Given the description of an element on the screen output the (x, y) to click on. 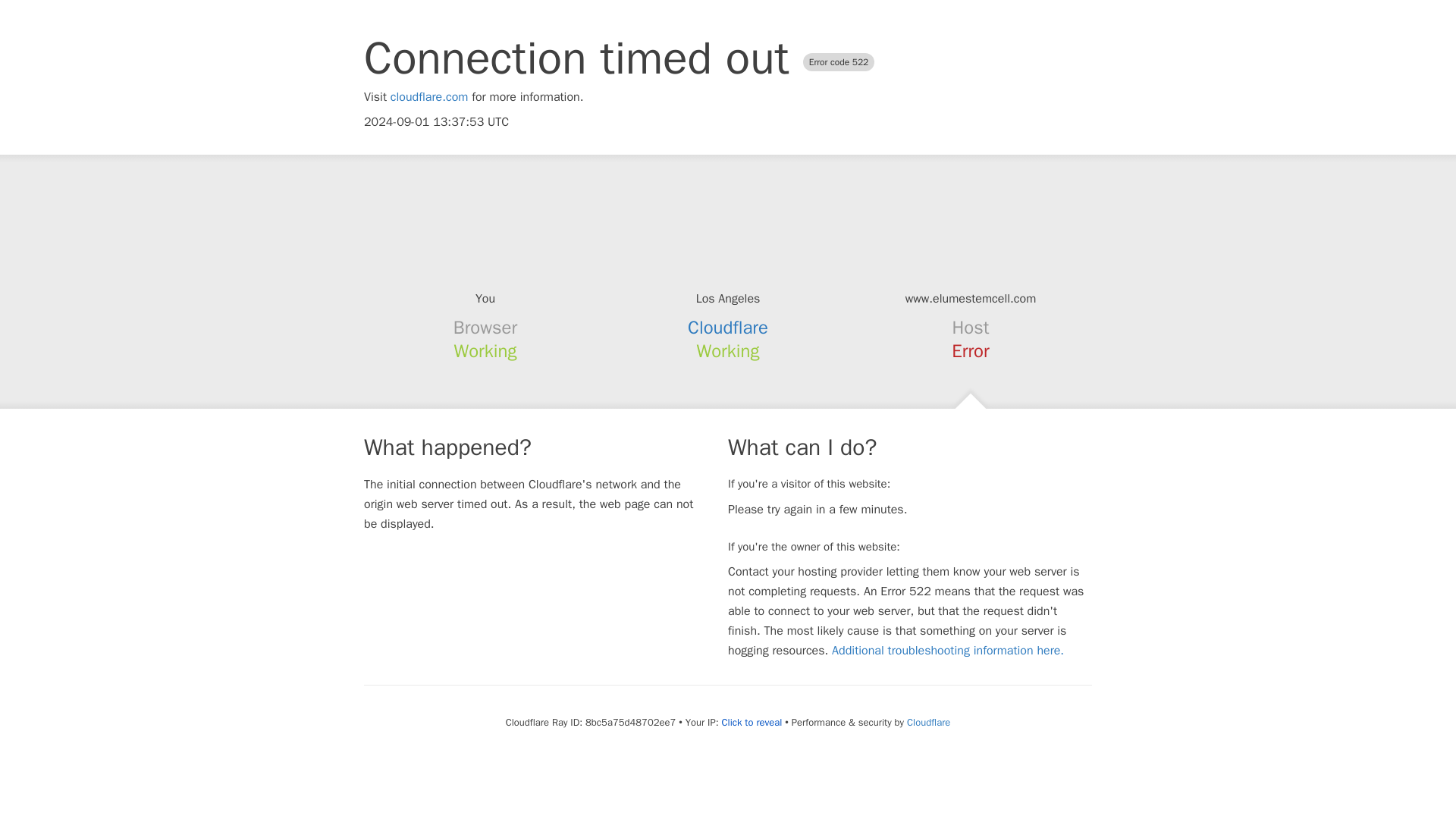
Cloudflare (727, 327)
Additional troubleshooting information here. (947, 650)
Click to reveal (750, 722)
Cloudflare (928, 721)
cloudflare.com (429, 96)
